Given the description of an element on the screen output the (x, y) to click on. 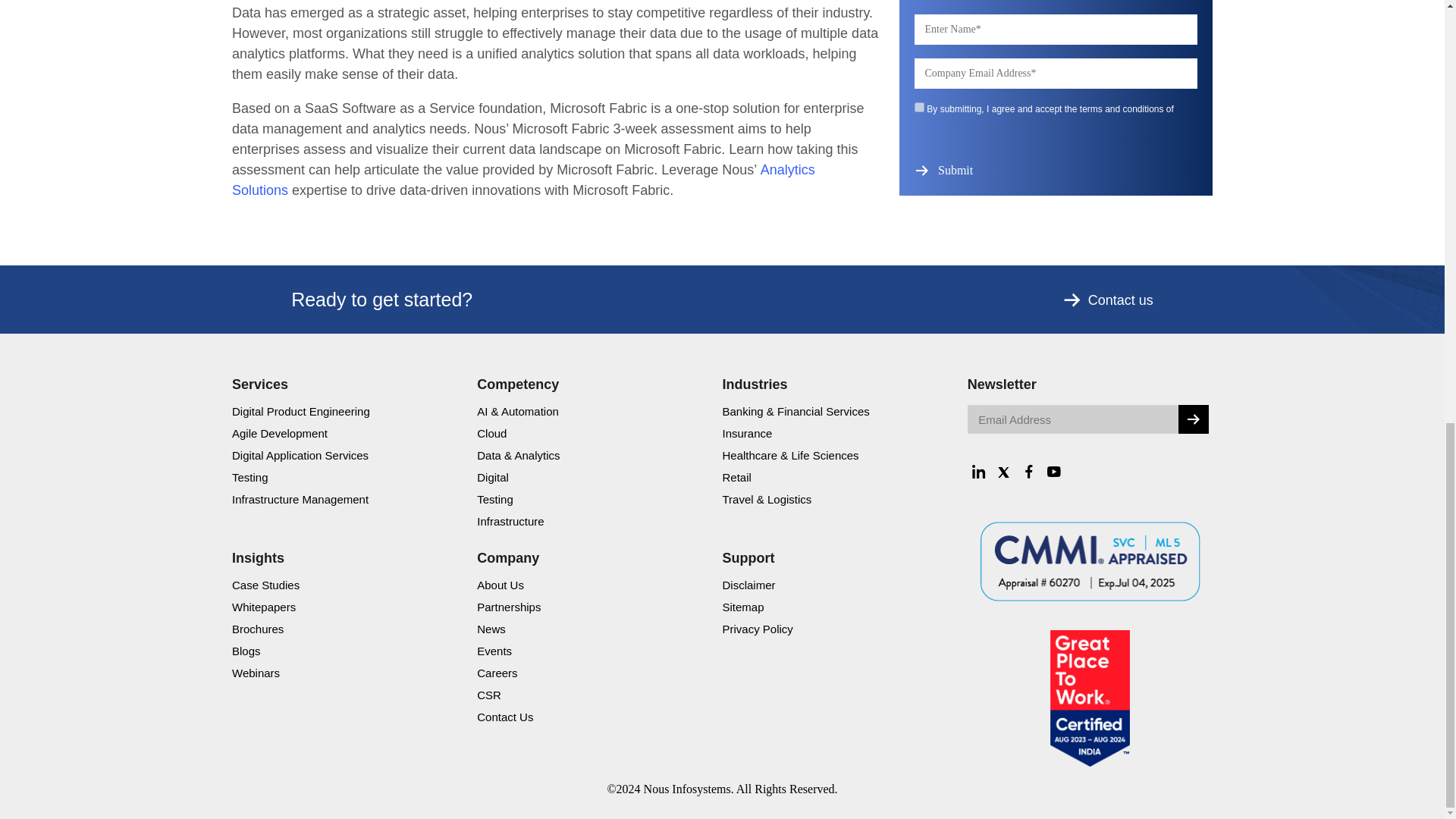
Submit (957, 170)
. (1192, 419)
